Given the description of an element on the screen output the (x, y) to click on. 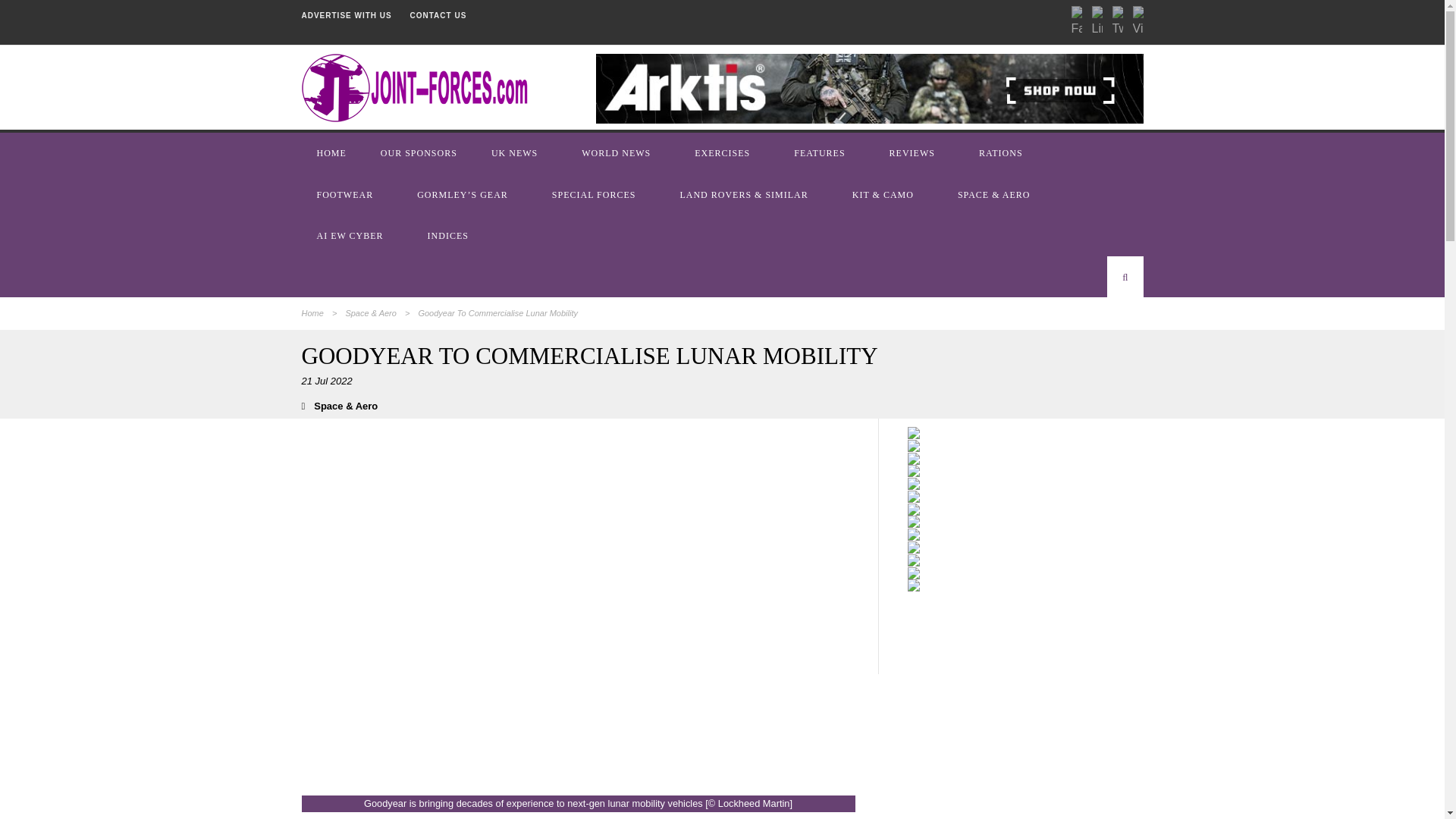
CONTACT US (438, 15)
HOME (333, 152)
ADVERTISE WITH US (346, 15)
